Given the description of an element on the screen output the (x, y) to click on. 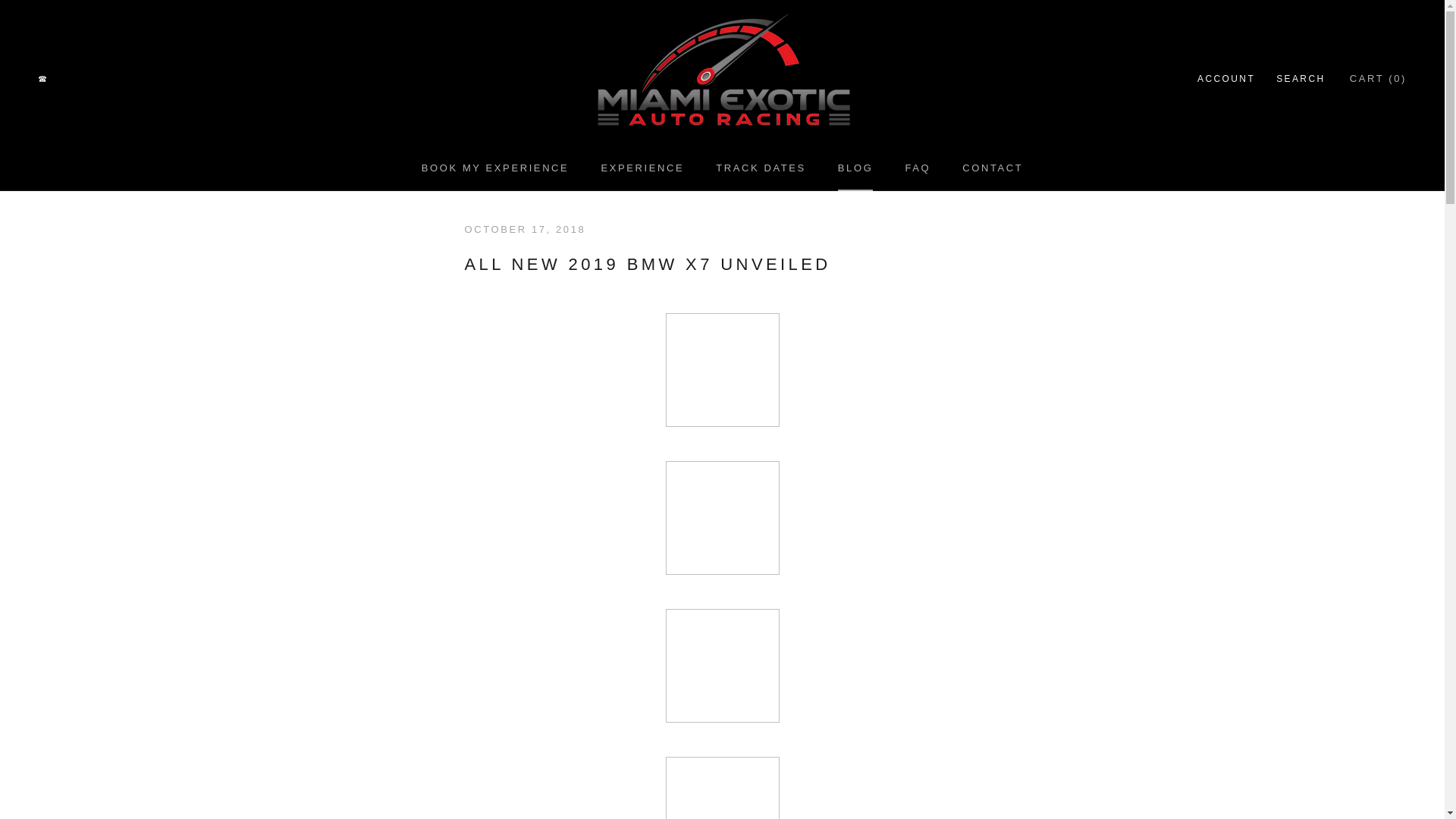
EXPERIENCE (495, 167)
TRACK DATES (992, 167)
ACCOUNT (641, 167)
Miami Exotic Auto Racing (761, 167)
SEARCH (1225, 79)
